Given the description of an element on the screen output the (x, y) to click on. 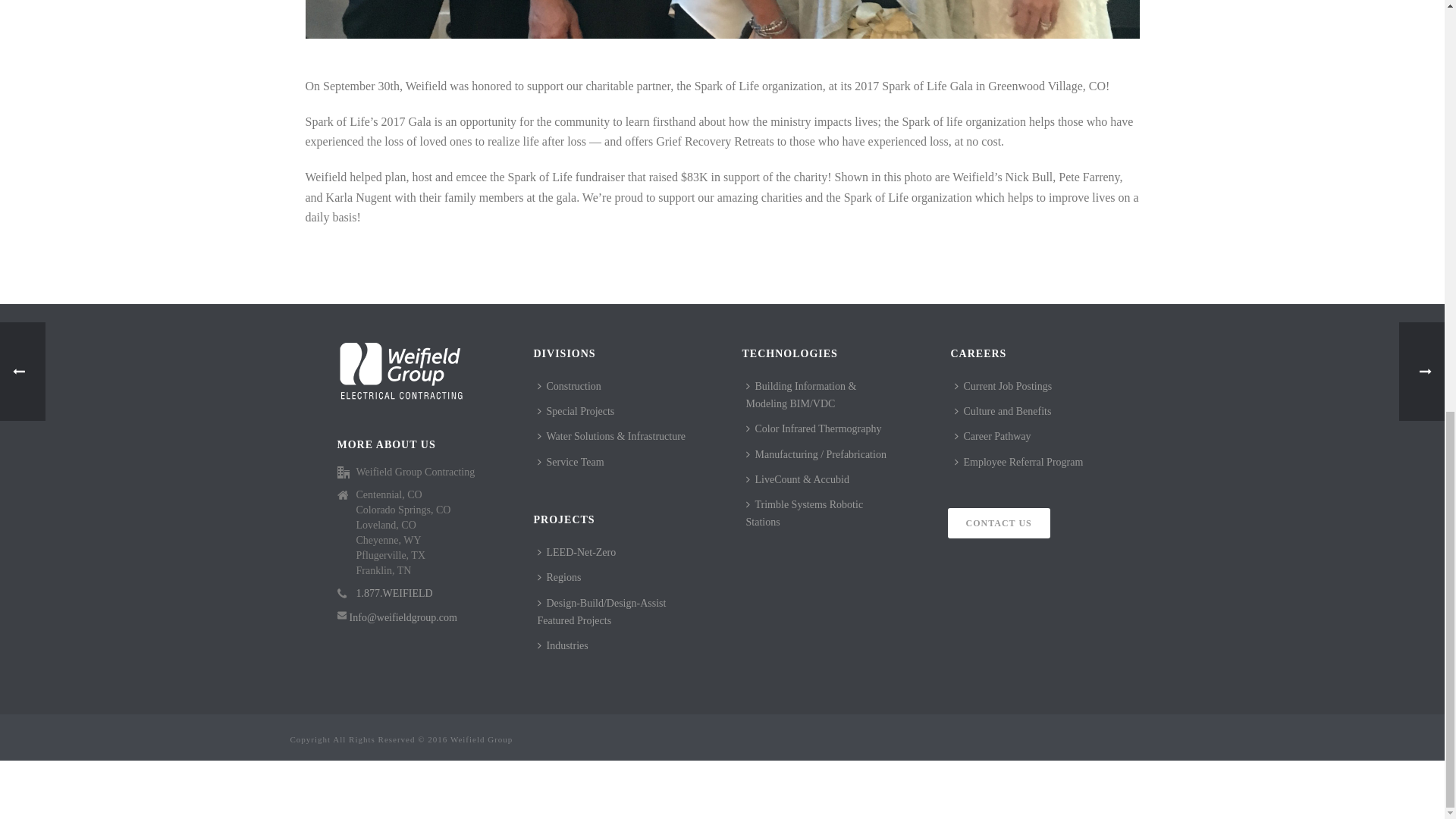
WEIFIELD SUPPORTS THE 2017 SPARK OF LIFE GALA! (721, 19)
CONTACT US (998, 522)
